Given the description of an element on the screen output the (x, y) to click on. 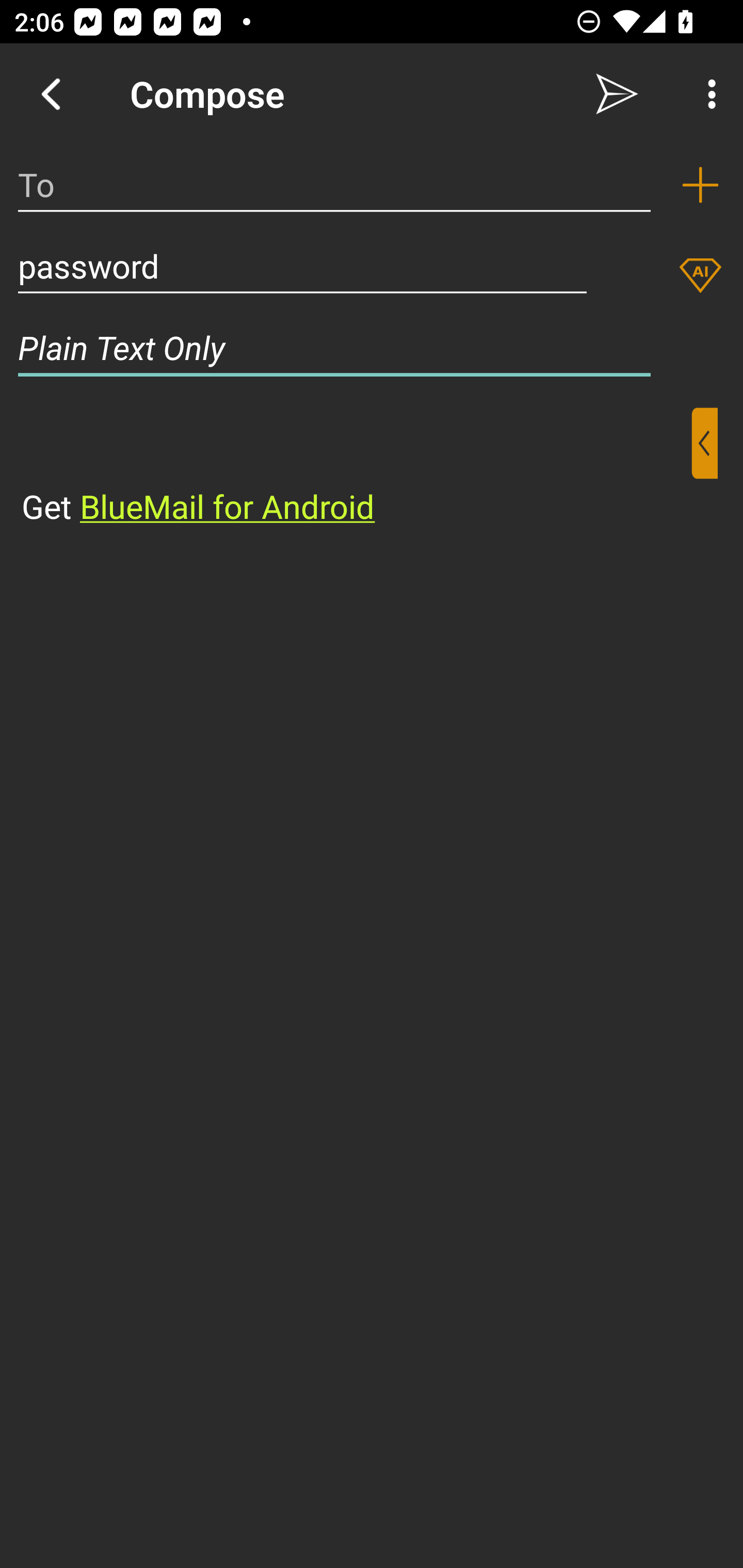
Navigate up (50, 93)
Send (616, 93)
More Options (706, 93)
To (334, 184)
Add recipient (To) (699, 184)
password (302, 266)
Plain Text Only (371, 347)


⁣Get BlueMail for Android ​ (355, 468)
